Given the description of an element on the screen output the (x, y) to click on. 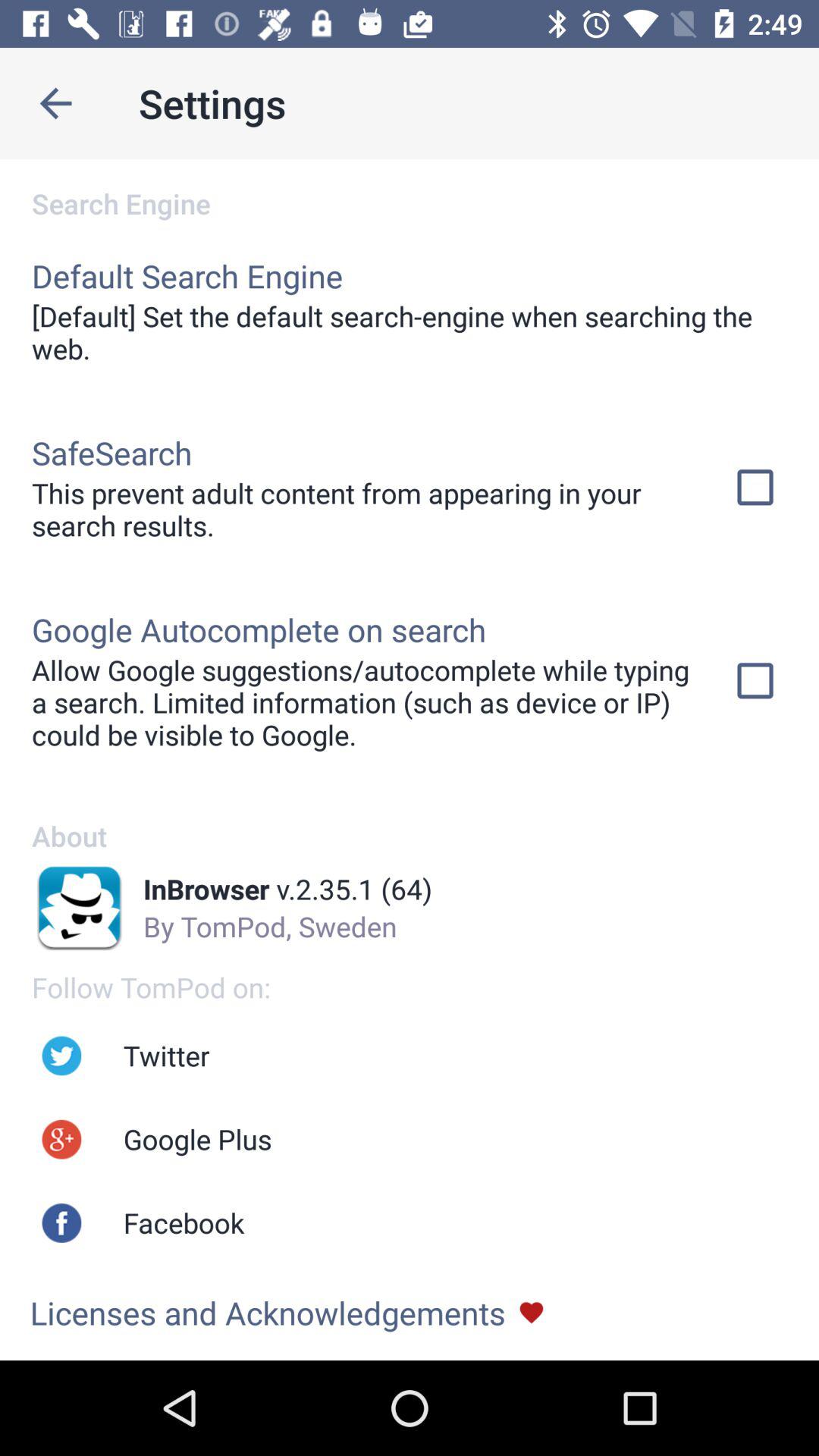
go to previous window (55, 103)
